Given the description of an element on the screen output the (x, y) to click on. 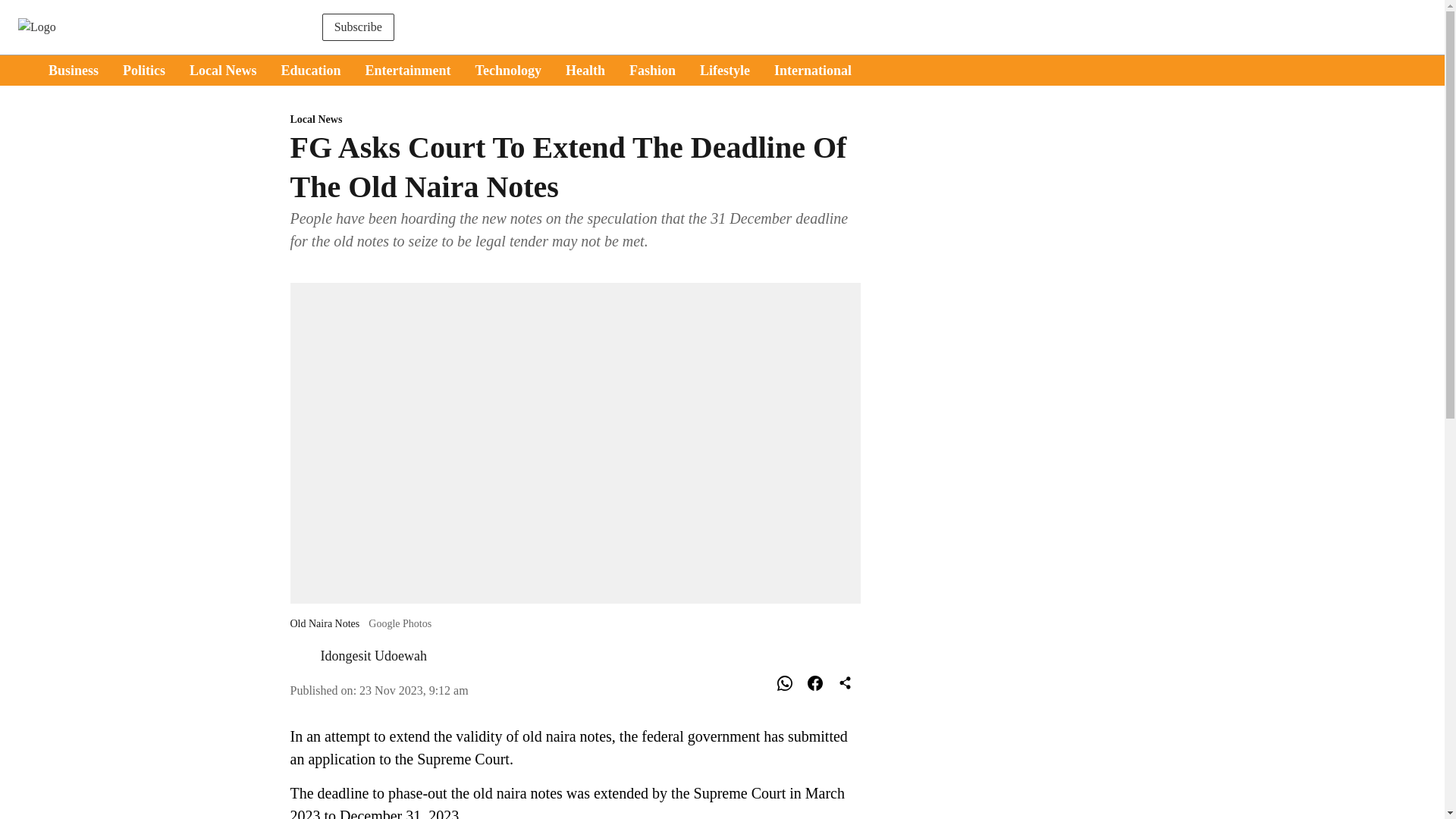
Lifestyle (724, 70)
Idongesit Udoewah (373, 655)
International (812, 70)
Local News (223, 70)
Technology (508, 70)
Local News (574, 119)
Entertainment (408, 70)
Politics (143, 70)
Education (310, 70)
Health (585, 70)
2023-11-23 09:12 (413, 689)
Business (73, 70)
Fashion (651, 70)
